Given the description of an element on the screen output the (x, y) to click on. 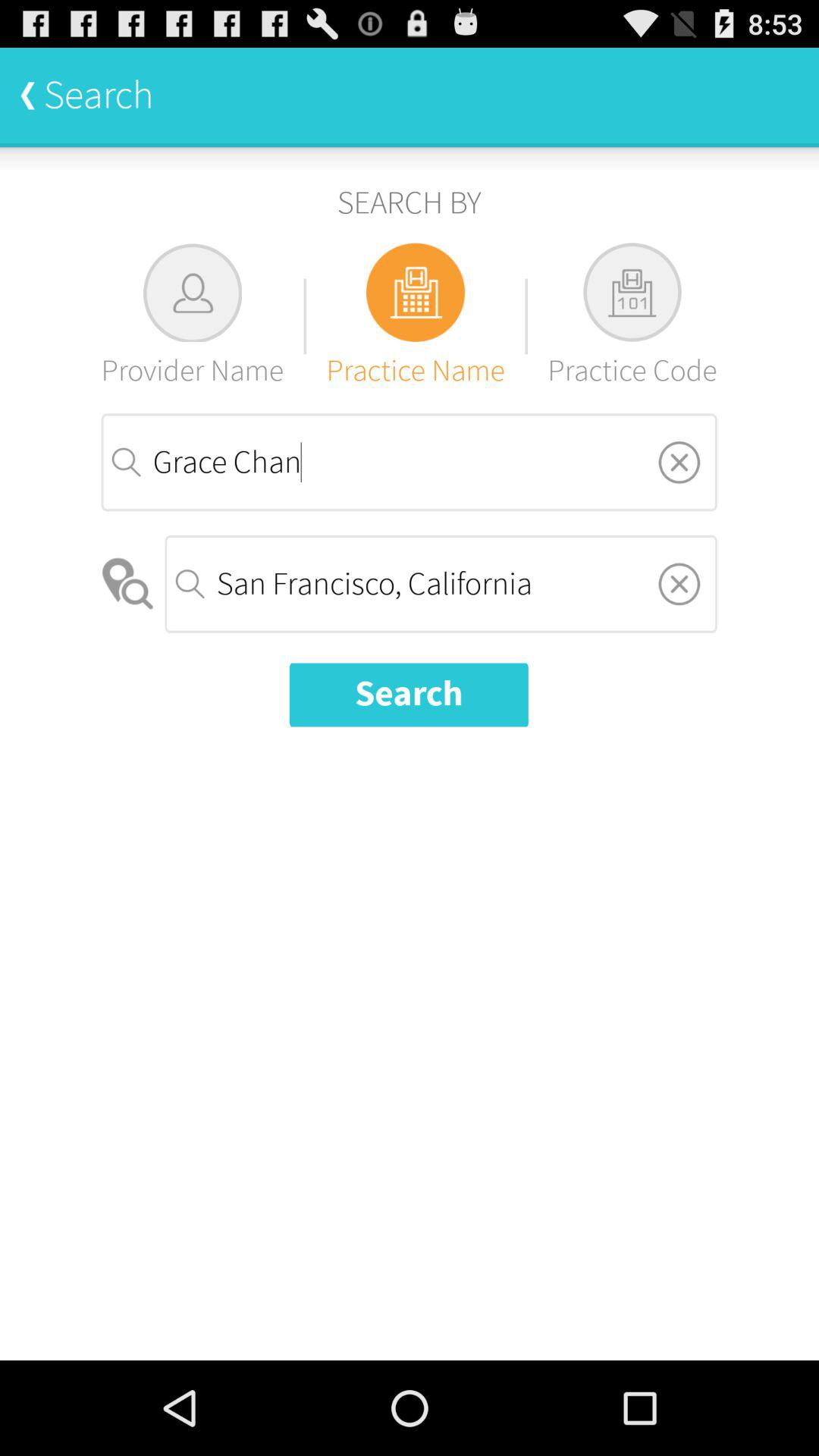
click the practice code (632, 315)
